Given the description of an element on the screen output the (x, y) to click on. 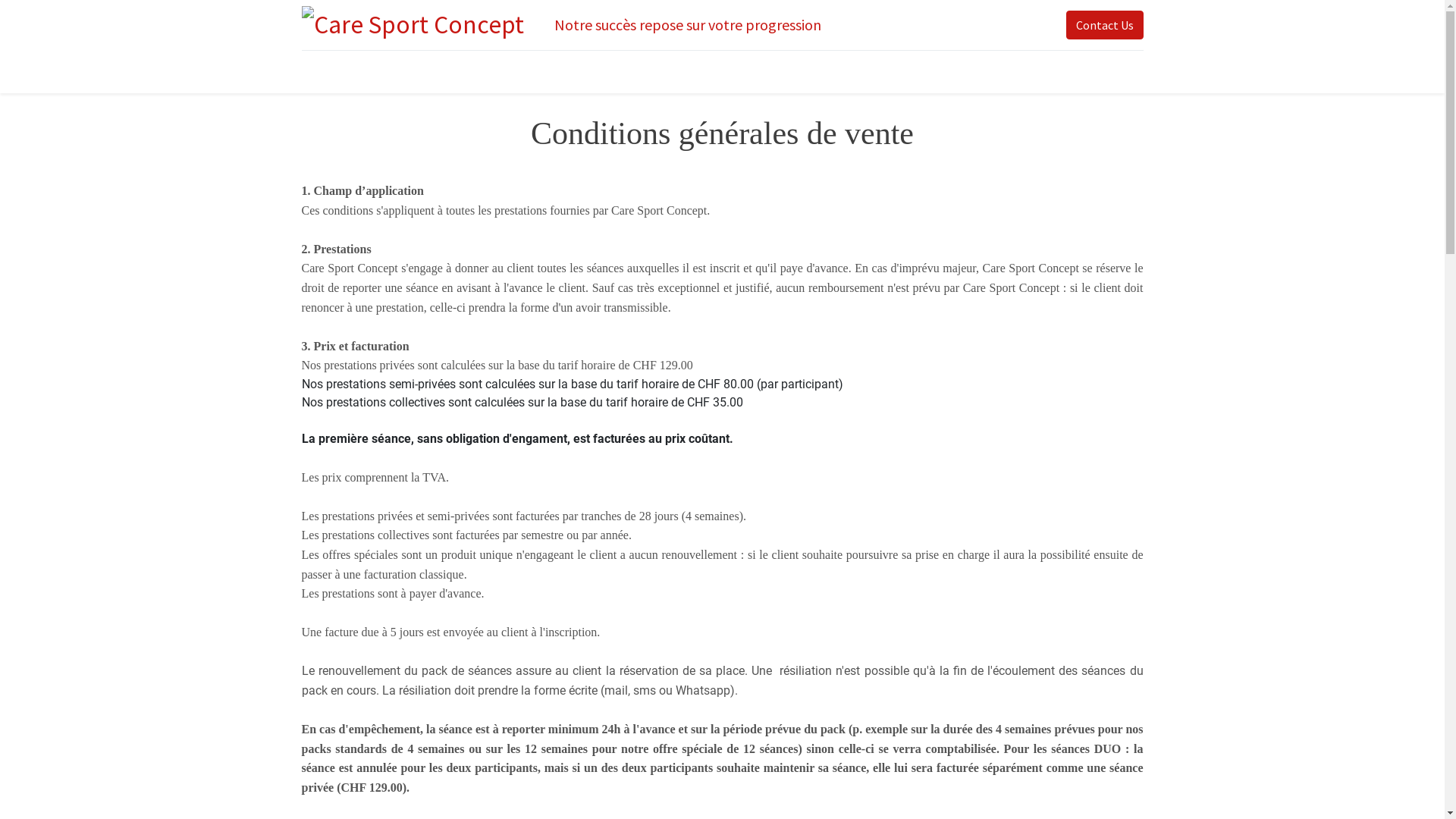
Care Sport Concept Element type: hover (412, 24)
Contact Us Element type: text (1104, 24)
